Given the description of an element on the screen output the (x, y) to click on. 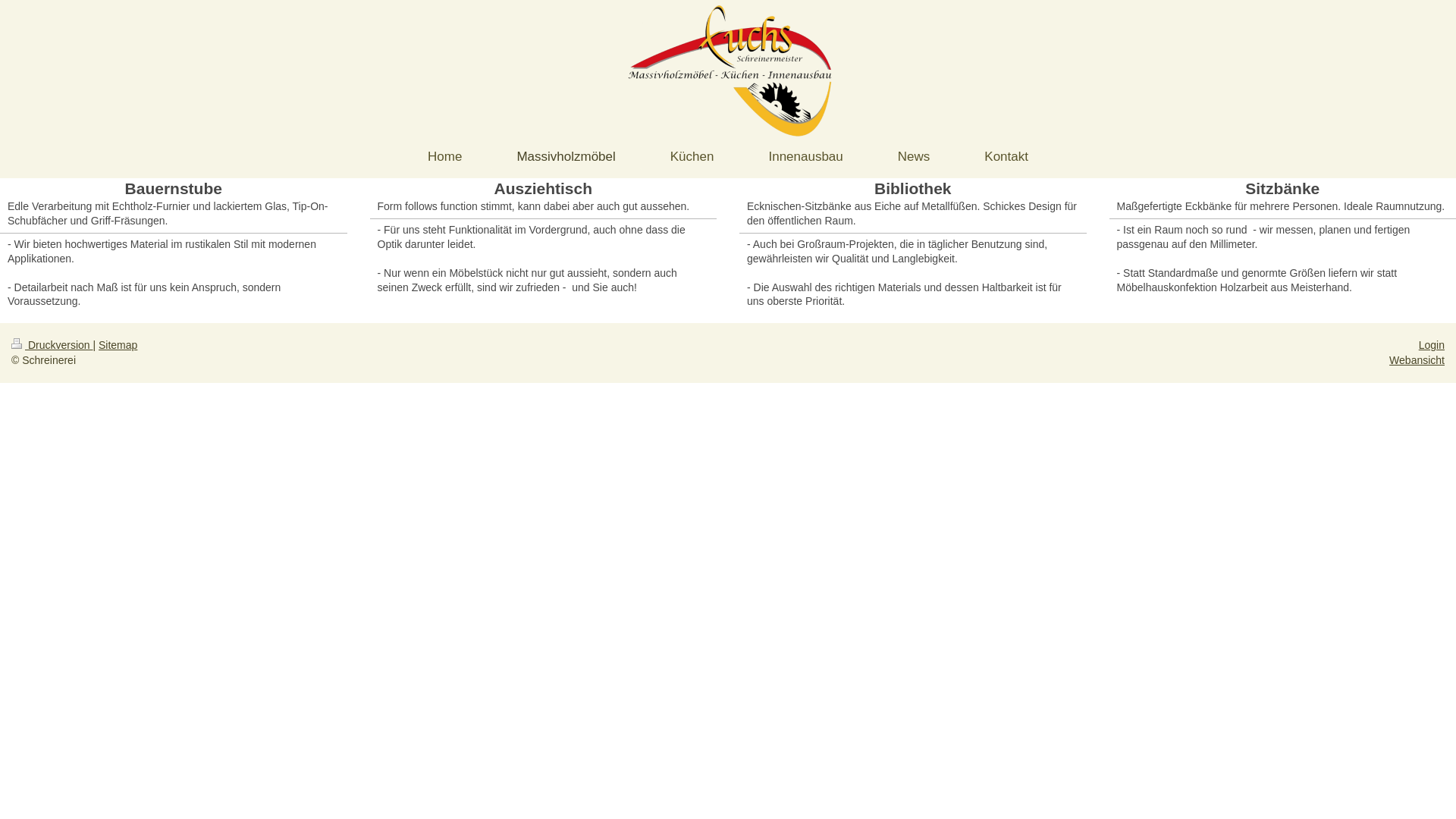
Druckversion Element type: text (51, 344)
News Element type: text (914, 157)
Sitemap Element type: text (117, 344)
Webansicht Element type: text (1416, 360)
Kontakt Element type: text (1006, 157)
Login Element type: text (1431, 344)
Home Element type: text (444, 157)
Innenausbau Element type: text (805, 157)
